Given the description of an element on the screen output the (x, y) to click on. 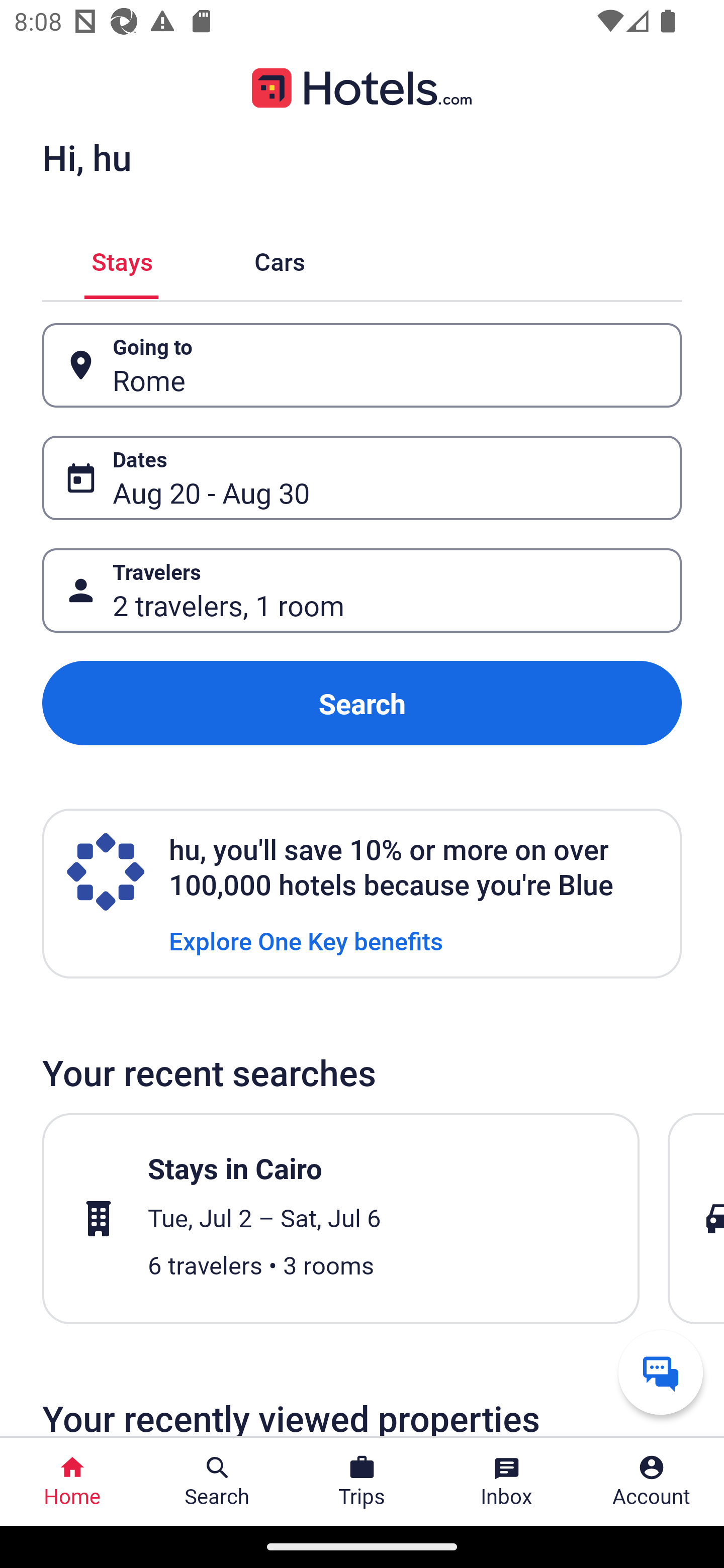
Hi, hu (86, 156)
Cars (279, 259)
Going to Button Rome (361, 365)
Dates Button Aug 20 - Aug 30 (361, 477)
Travelers Button 2 travelers, 1 room (361, 590)
Search (361, 702)
Get help from a virtual agent (660, 1371)
Search Search Button (216, 1481)
Trips Trips Button (361, 1481)
Inbox Inbox Button (506, 1481)
Account Profile. Button (651, 1481)
